Given the description of an element on the screen output the (x, y) to click on. 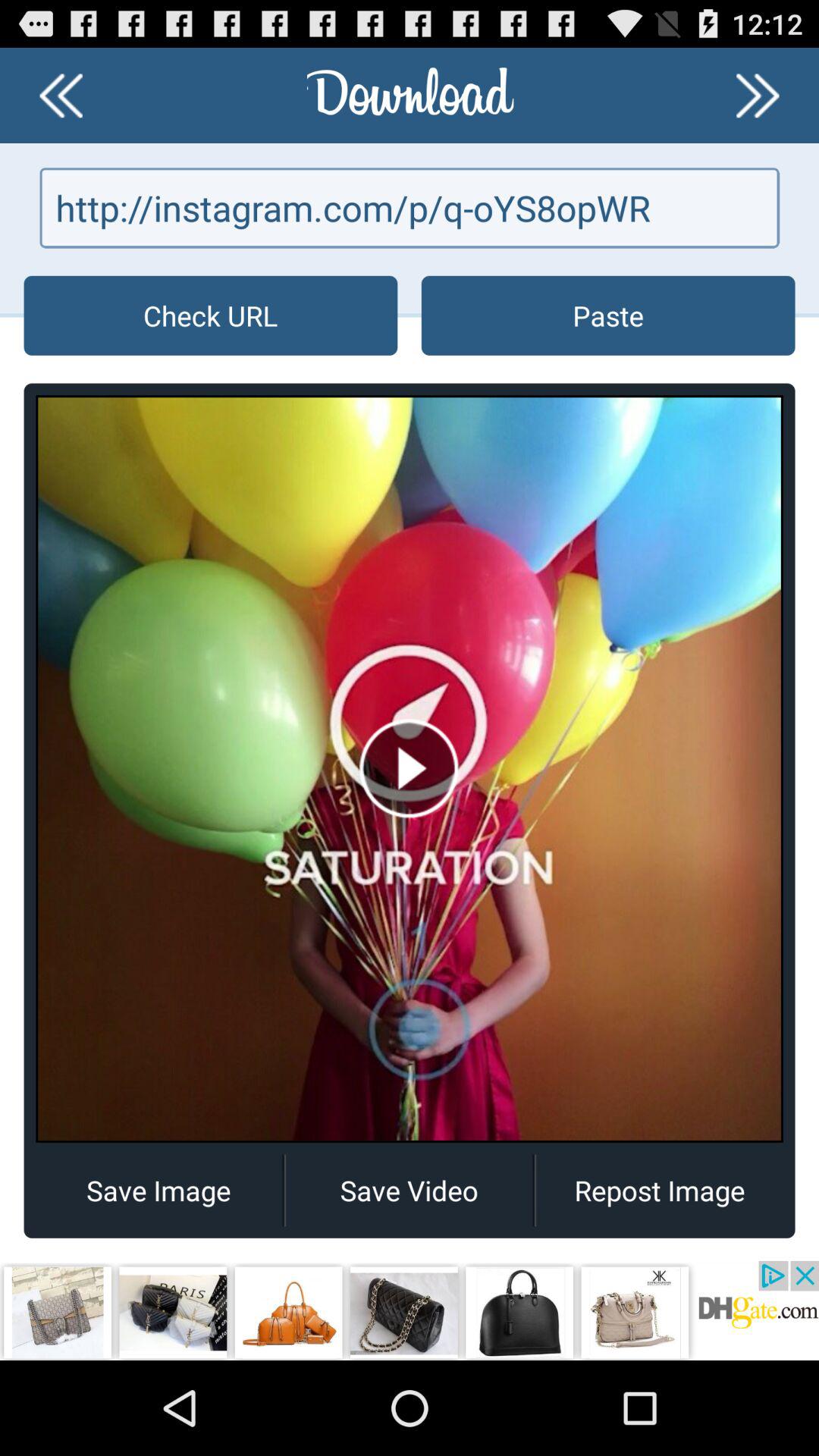
go previous page (61, 95)
